Given the description of an element on the screen output the (x, y) to click on. 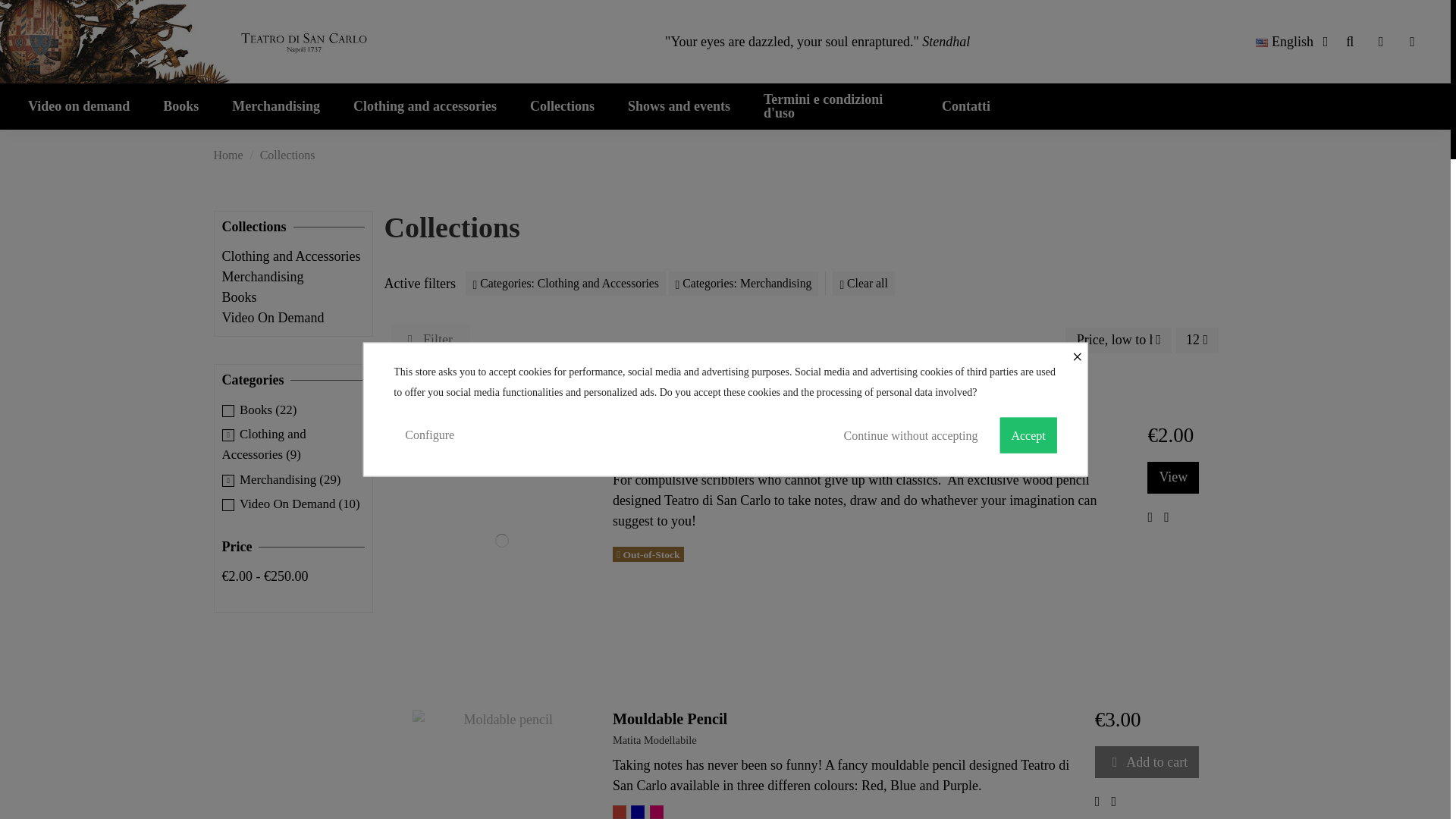
Home (228, 154)
Termini e condizioni d'uso (835, 106)
Categories: Merchandising (743, 283)
Contatti (965, 106)
English (1294, 41)
Clothing and accessories (424, 106)
Blu (637, 812)
Video on demand (79, 106)
Shows and events (678, 106)
Merchandising (275, 106)
Rosa (656, 812)
Rosso (619, 812)
Books (181, 106)
Clear all (863, 283)
Collections (562, 106)
